Given the description of an element on the screen output the (x, y) to click on. 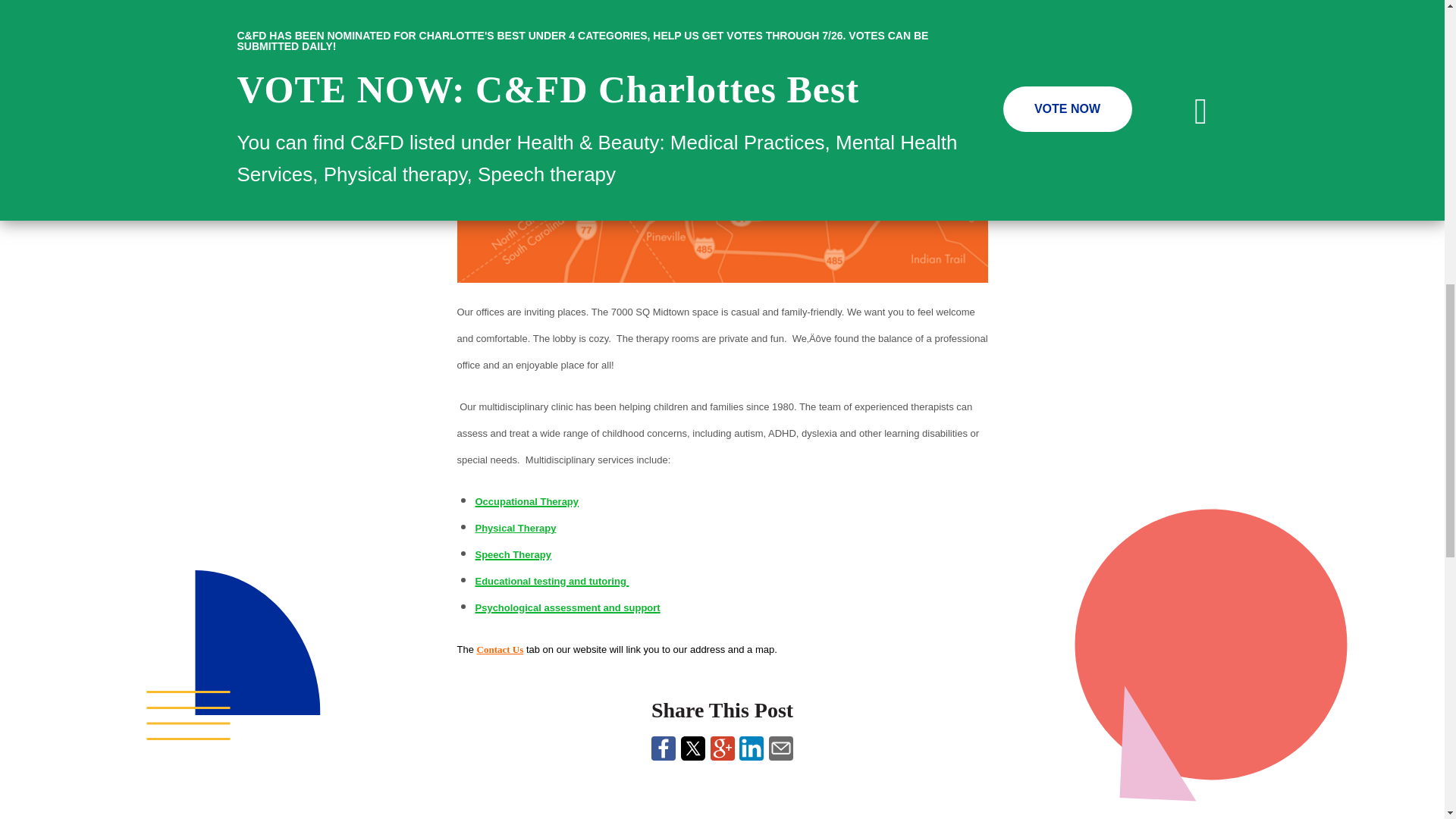
Physical Therapy (515, 527)
Speech Therapy (512, 552)
Tweet (692, 753)
Educational testing and tutoring  (551, 579)
Contact Us (500, 649)
Send email (780, 753)
Share on Facebook (662, 753)
Share on LinkedIn (750, 753)
Occupational Therapy (526, 499)
Psychological assessment and support (566, 605)
